Given the description of an element on the screen output the (x, y) to click on. 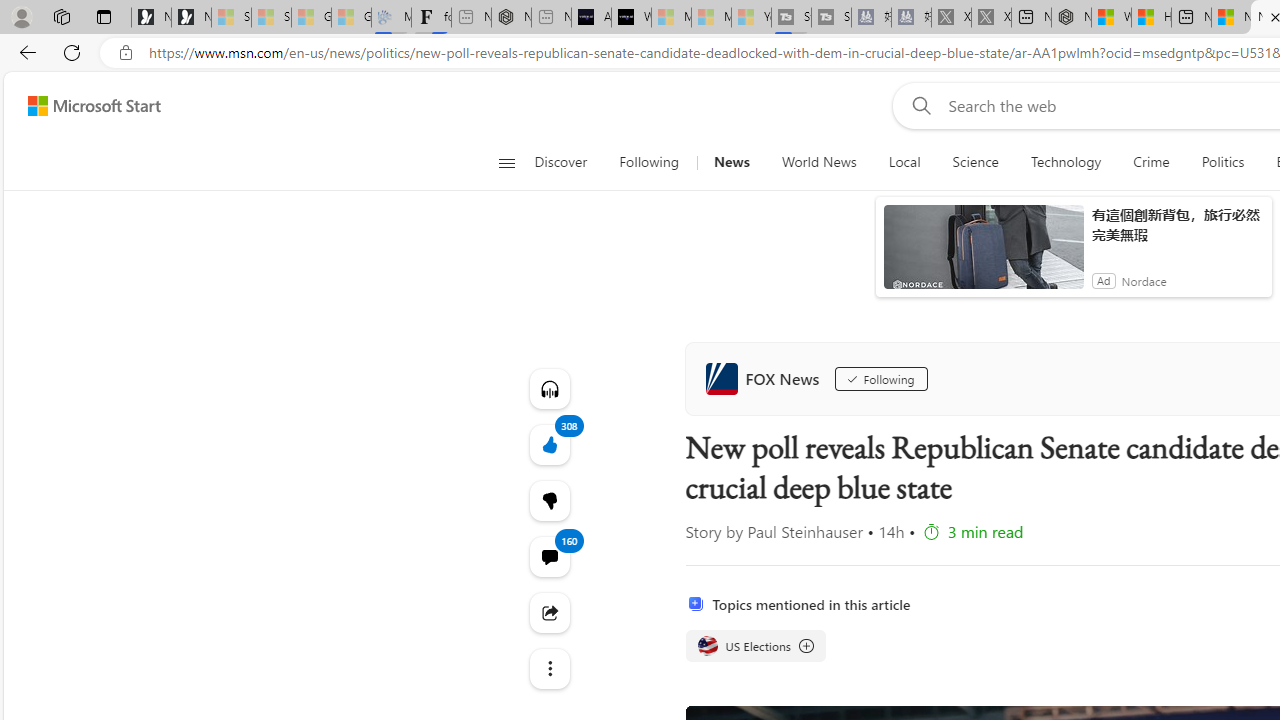
Crime (1151, 162)
Microsoft Start - Sleeping (711, 17)
X - Sleeping (991, 17)
Web search (917, 105)
Share this story (548, 612)
Science (975, 162)
Dislike (548, 500)
Crime (1150, 162)
World News (818, 162)
News (731, 162)
